Given the description of an element on the screen output the (x, y) to click on. 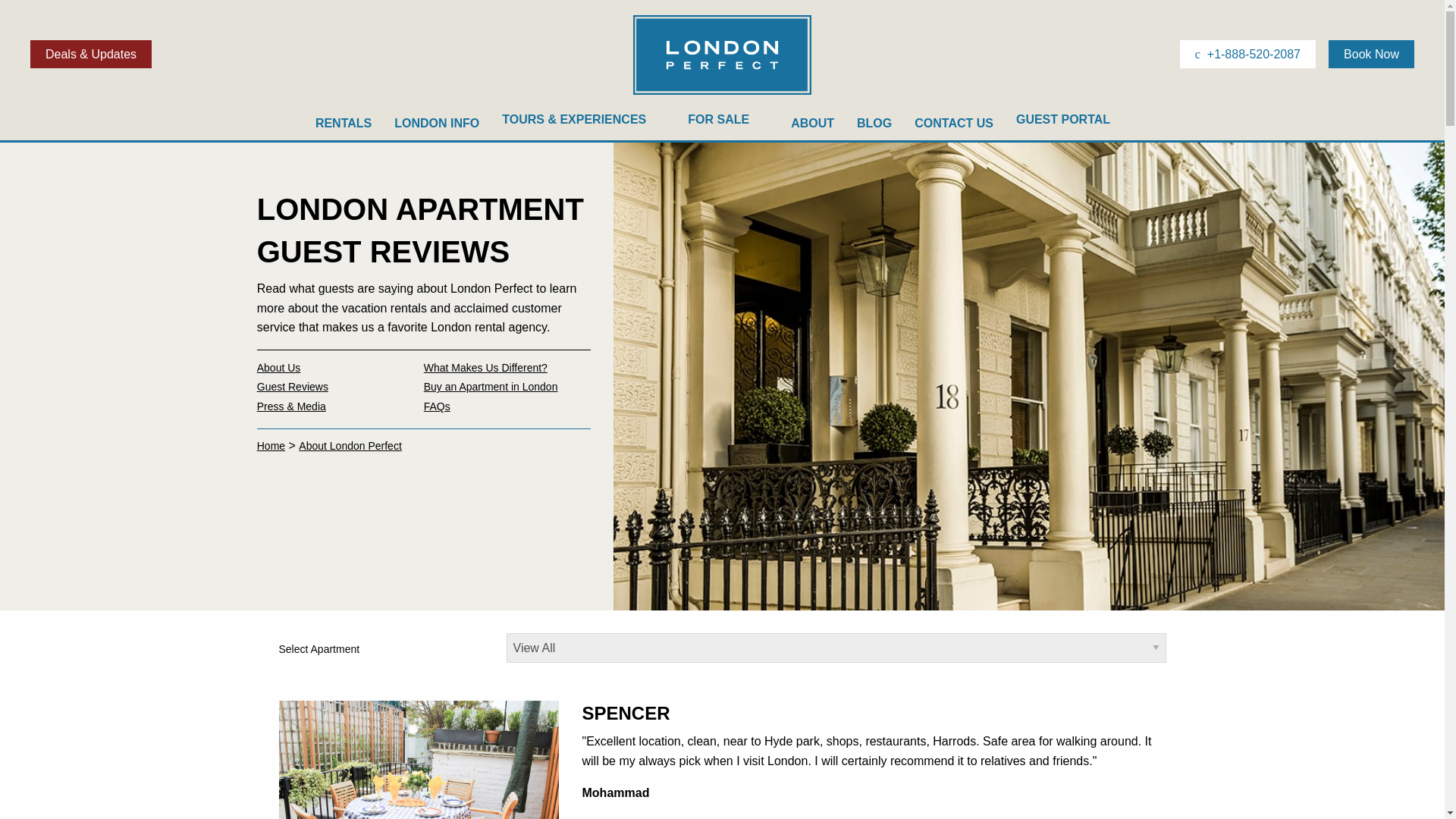
RENTALS (343, 122)
LONDON INFO (436, 122)
Book Now (1370, 53)
London Guide (436, 122)
Spencer (419, 792)
ABOUT (811, 122)
London Perfect - London Vacation Rentals (721, 92)
FOR SALE (727, 123)
